Given the description of an element on the screen output the (x, y) to click on. 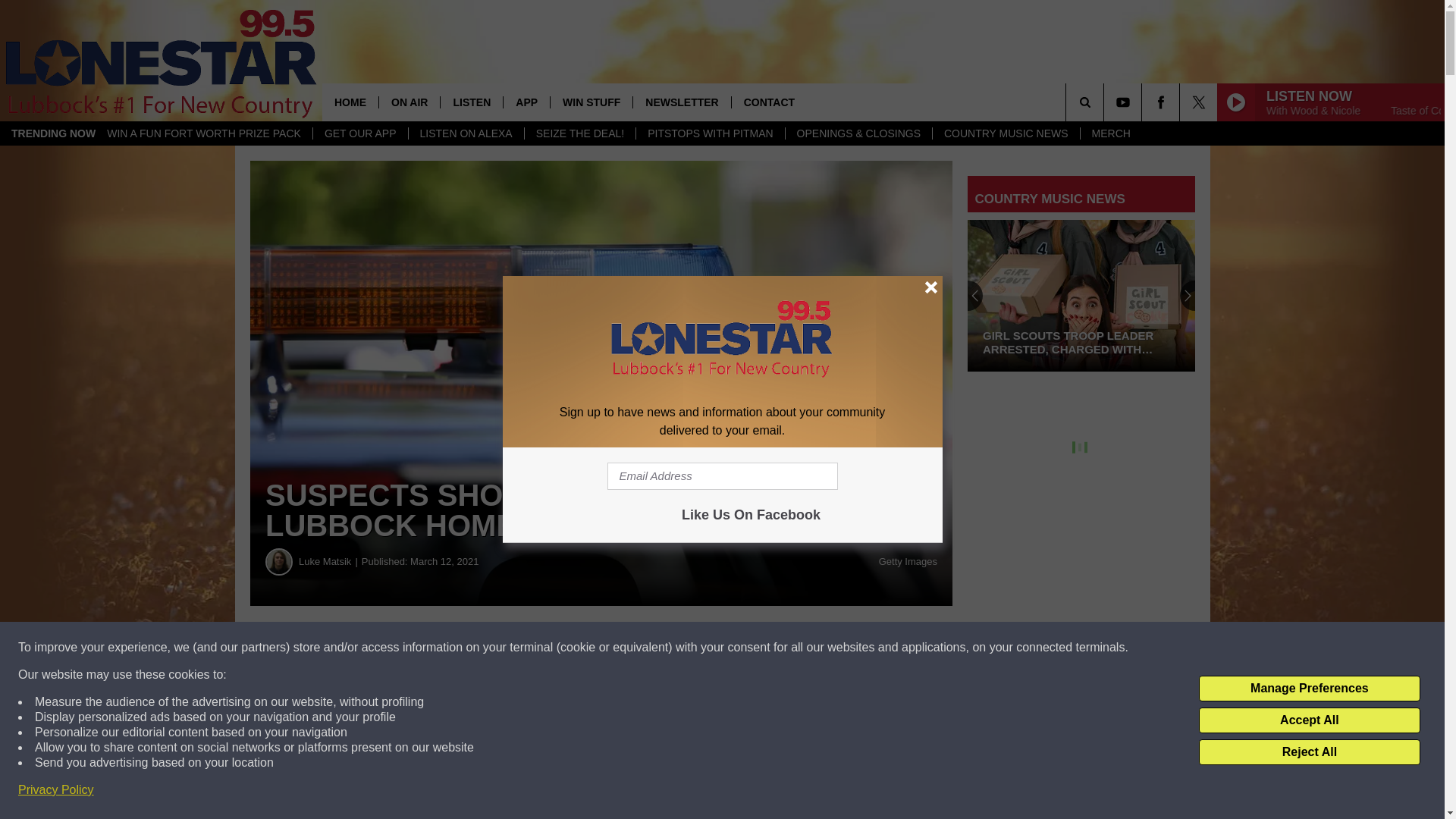
LISTEN (470, 102)
Email Address (722, 475)
SEIZE THE DEAL! (579, 133)
Manage Preferences (1309, 688)
HOME (349, 102)
WIN STUFF (590, 102)
WIN A FUN FORT WORTH PRIZE PACK (204, 133)
Privacy Policy (55, 789)
COUNTRY MUSIC NEWS (1005, 133)
MERCH (1110, 133)
LISTEN ON ALEXA (465, 133)
ON AIR (408, 102)
SEARCH (1106, 102)
Share on Facebook (460, 647)
GET OUR APP (360, 133)
